Given the description of an element on the screen output the (x, y) to click on. 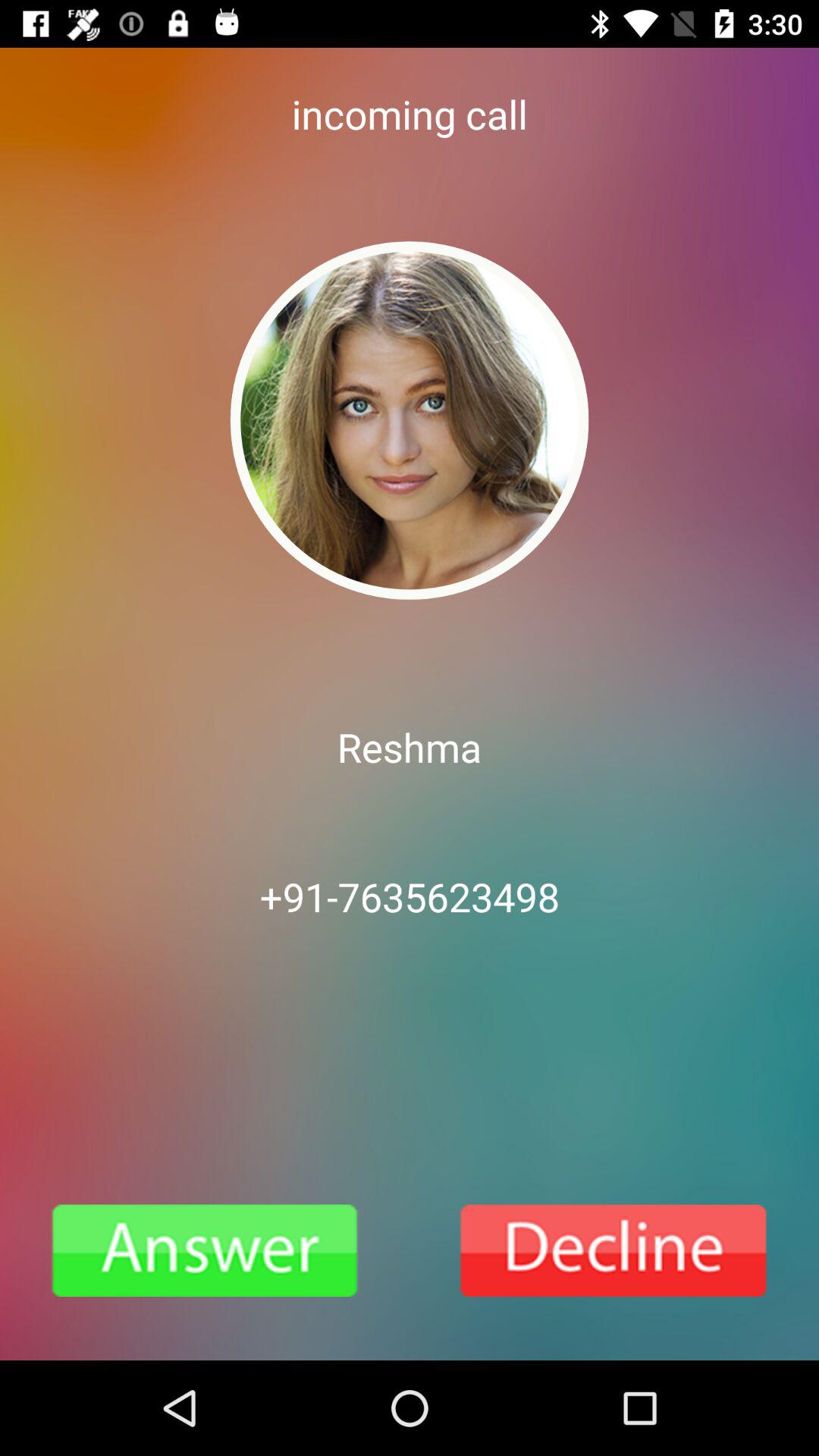
answer call (204, 1250)
